Given the description of an element on the screen output the (x, y) to click on. 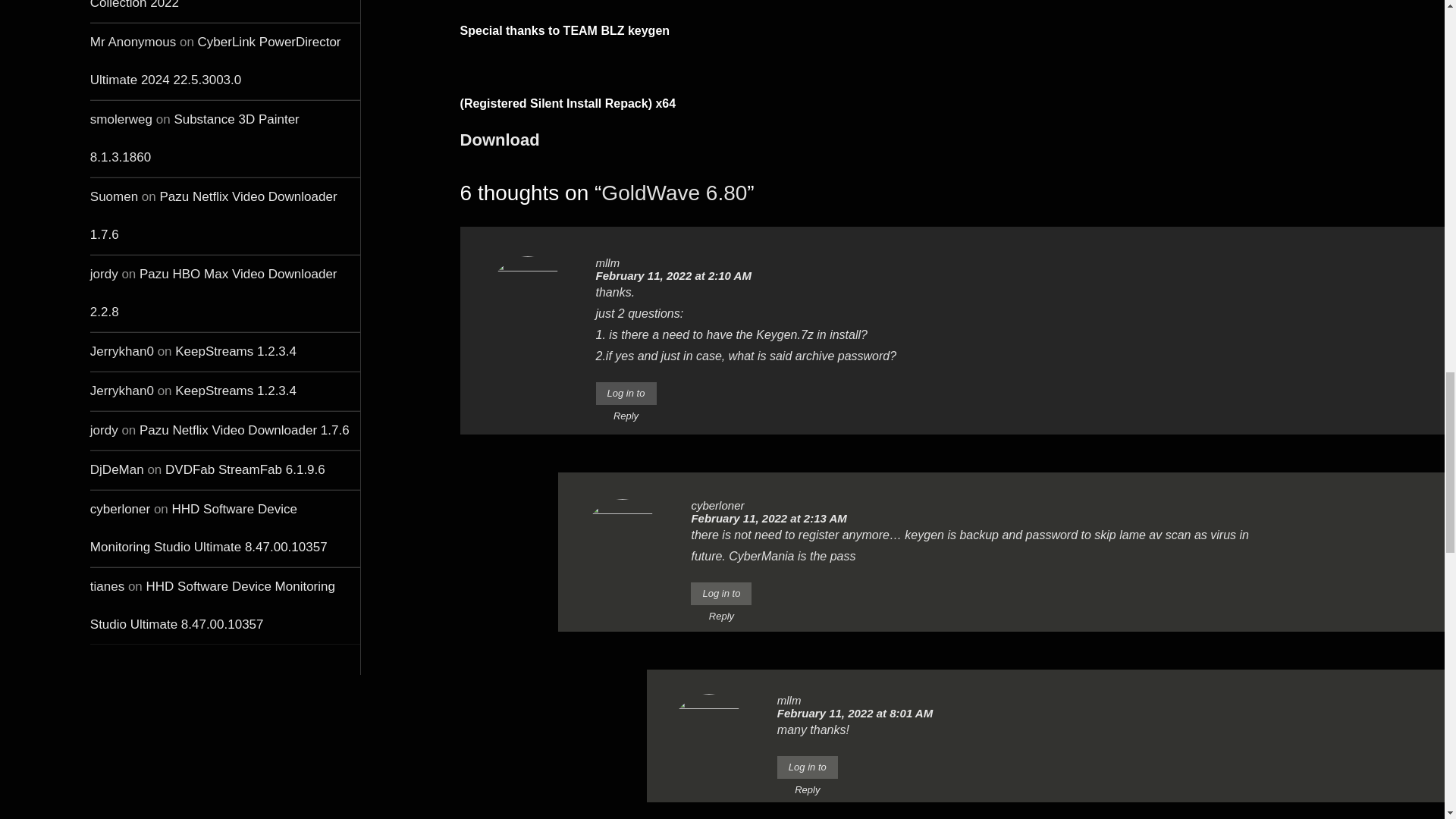
Download (500, 139)
Substance 3D Painter 8.1.3.1860 (194, 138)
HHD Software Device Monitoring Studio Ultimate 8.47.00.10357 (208, 528)
Summitsoft FontPack Pro Master Collection 2022 (215, 4)
Pazu Netflix Video Downloader 1.7.6 (244, 430)
Pazu Netflix Video Downloader 1.7.6 (213, 215)
HHD Software Device Monitoring Studio Ultimate 8.47.00.10357 (212, 605)
cyberloner (119, 509)
KeepStreams 1.2.3.4 (235, 391)
Log in to Reply (625, 393)
